Given the description of an element on the screen output the (x, y) to click on. 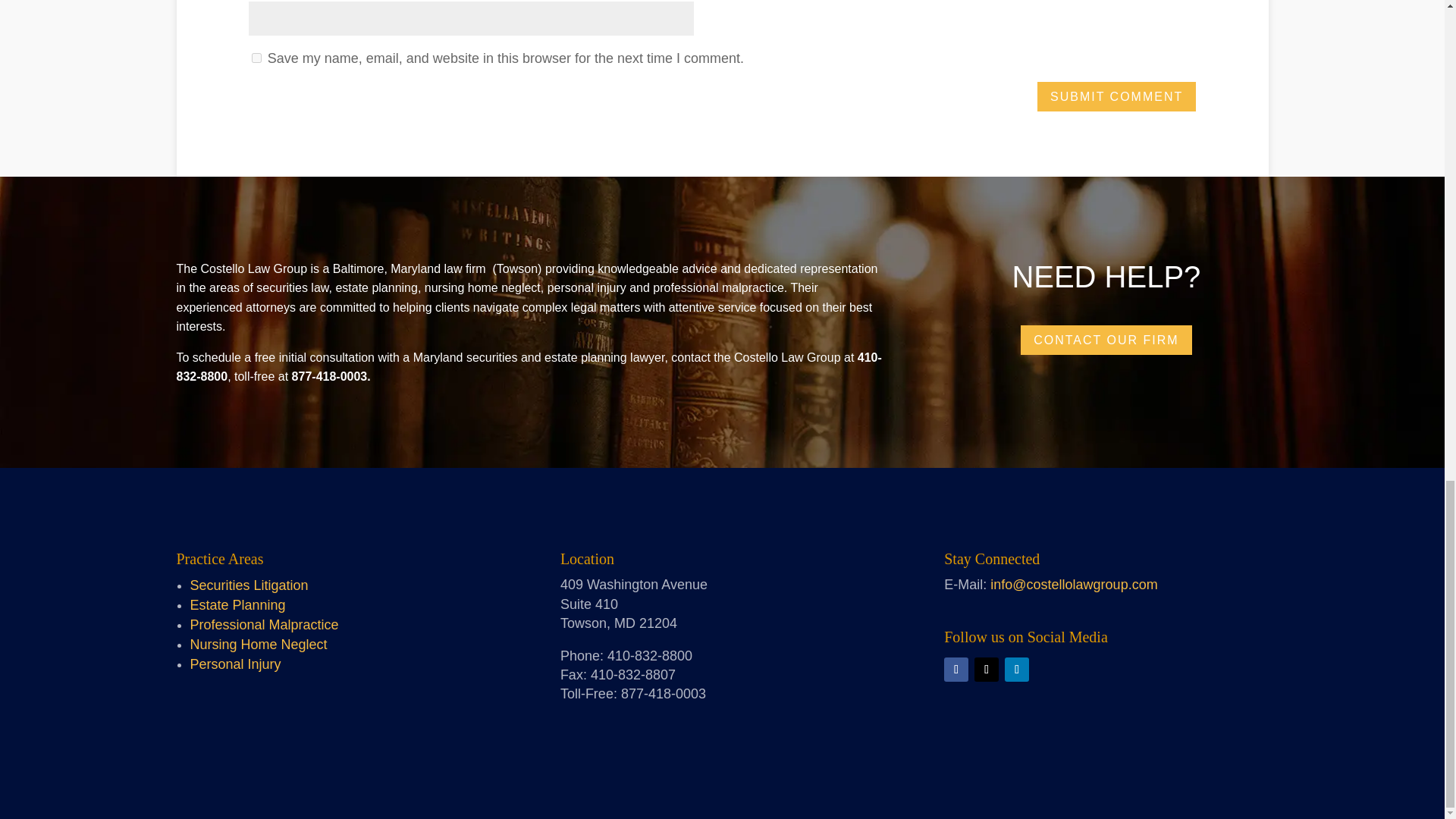
Follow on X (986, 669)
Follow on Facebook (955, 669)
yes (256, 58)
Follow on LinkedIn (1016, 669)
